Given the description of an element on the screen output the (x, y) to click on. 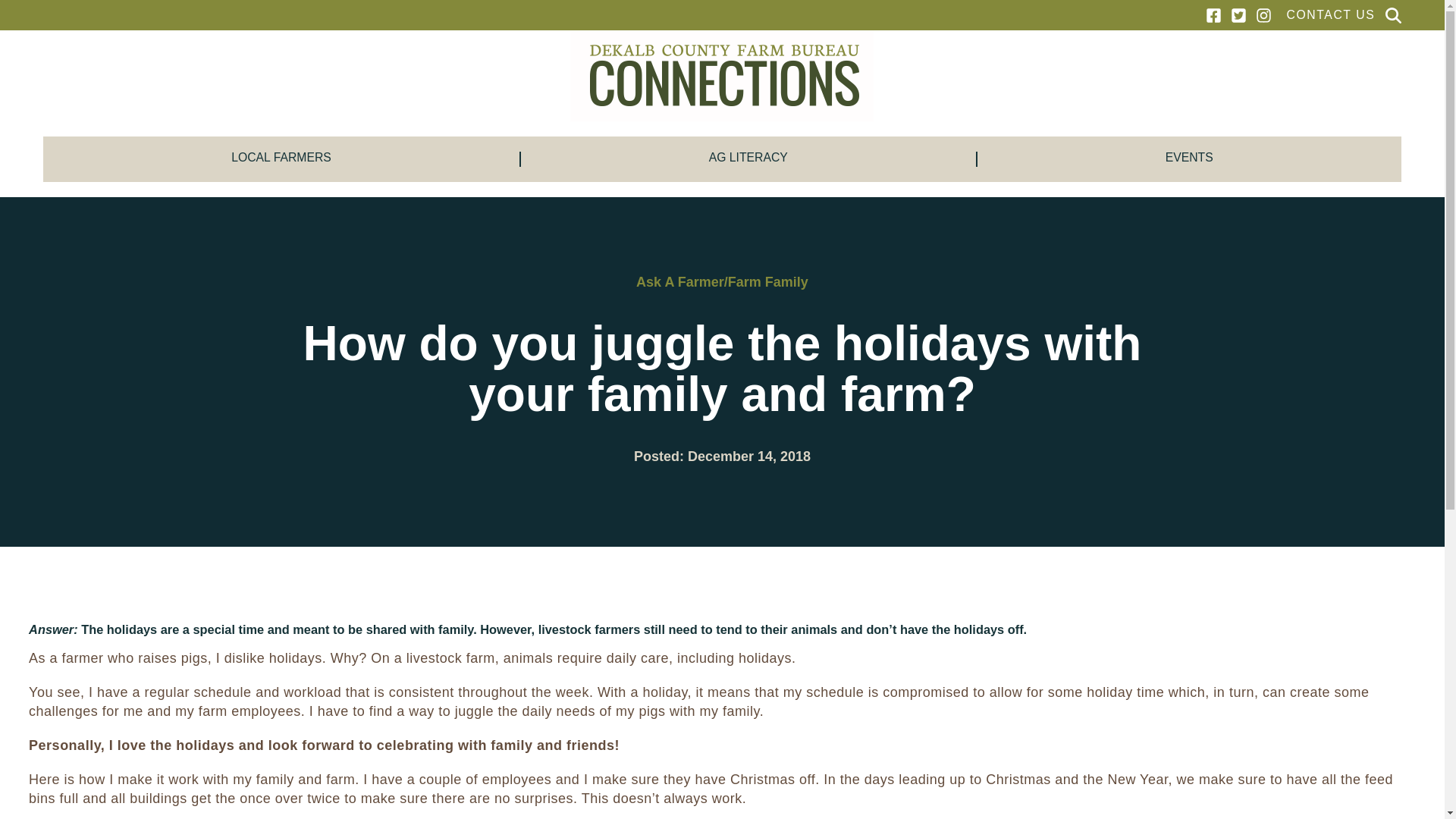
LOCAL FARMERS (281, 159)
CONTACT US (1330, 15)
AG LITERACY (748, 159)
EVENTS (1188, 159)
